Given the description of an element on the screen output the (x, y) to click on. 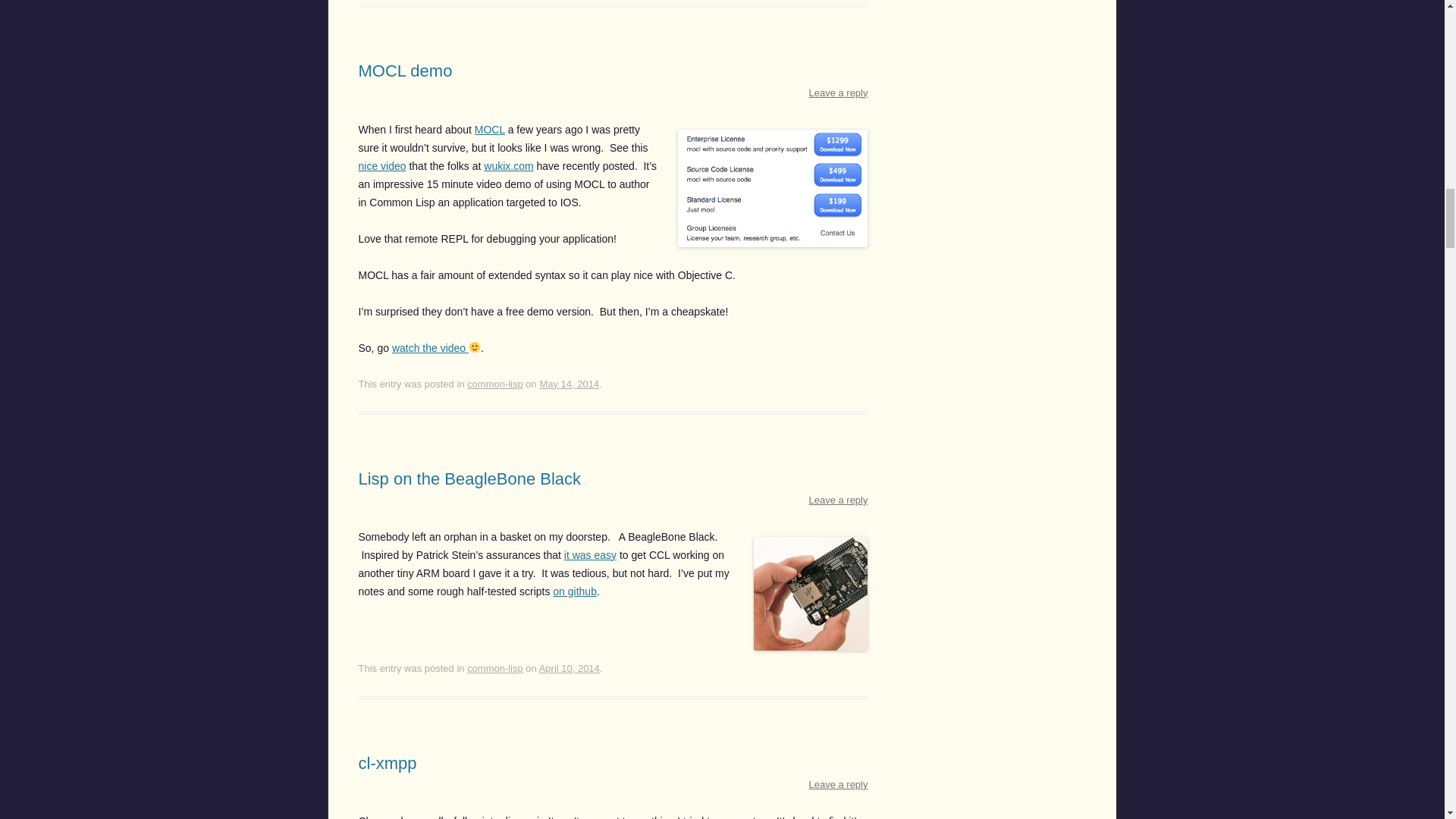
nice video (382, 165)
MOCL (489, 129)
MOCL demo (404, 70)
10:05 pm (568, 668)
Leave a reply (838, 92)
11:36 am (568, 383)
